Given the description of an element on the screen output the (x, y) to click on. 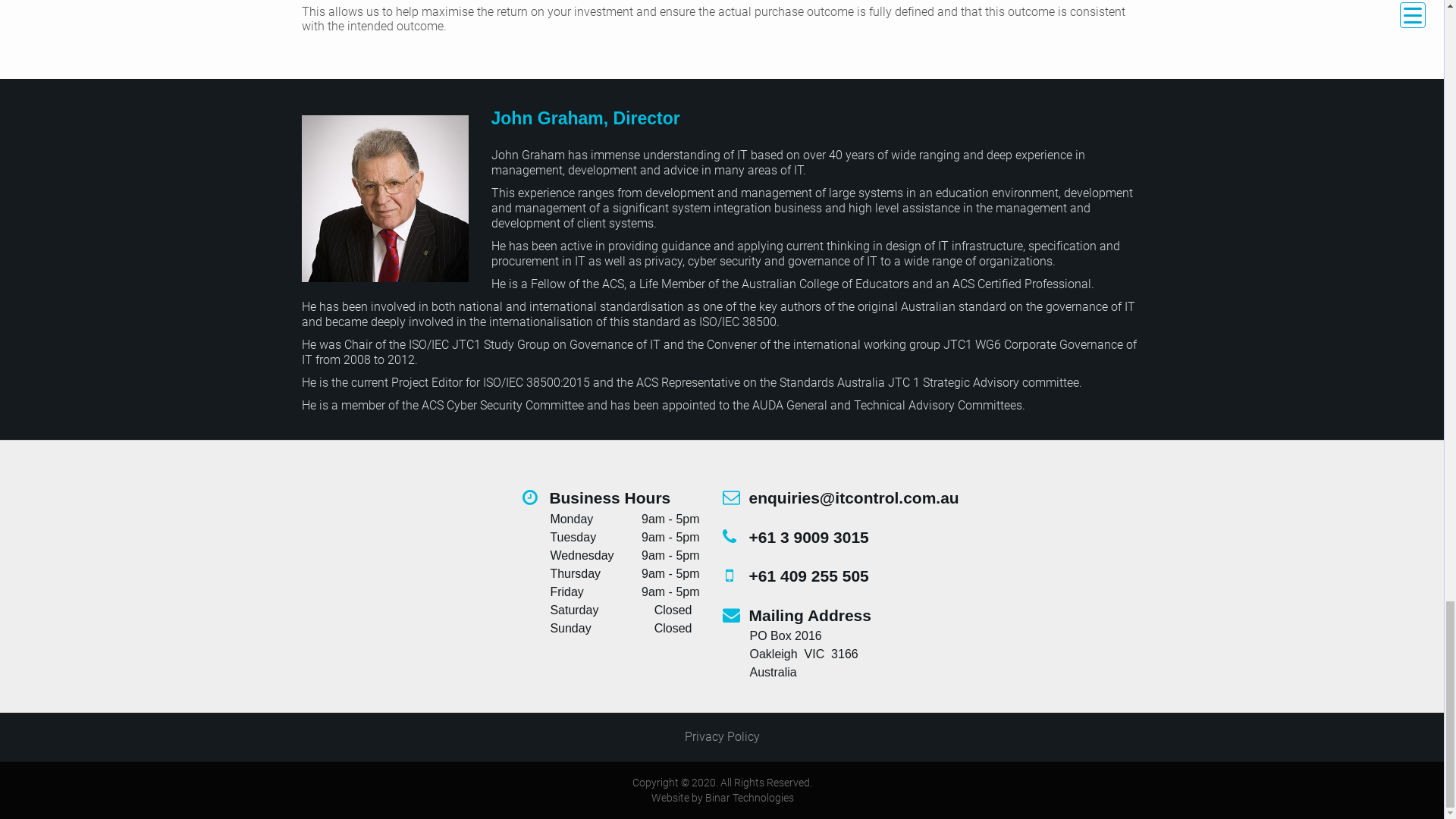
Privacy Policy (722, 736)
